Given the description of an element on the screen output the (x, y) to click on. 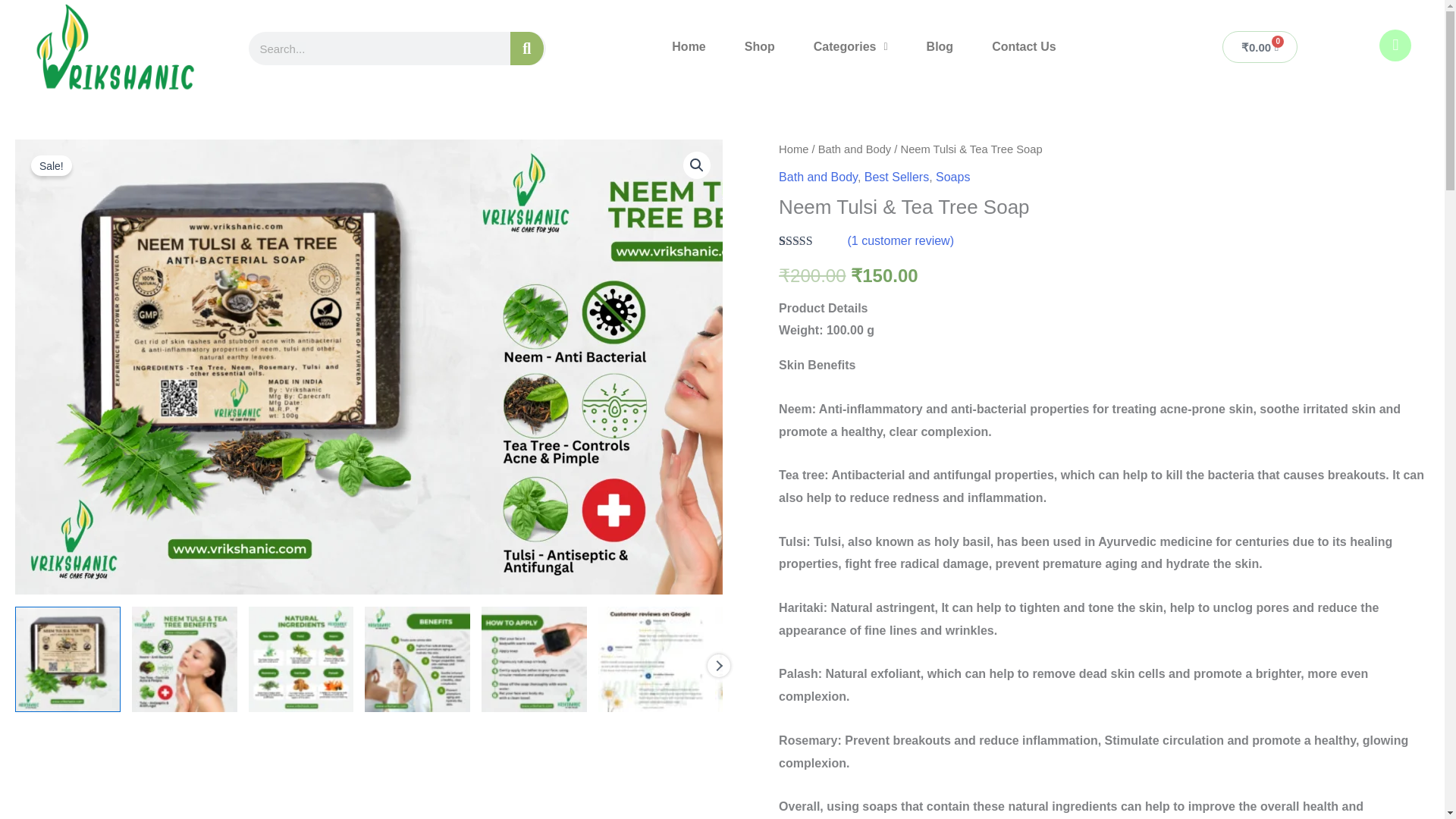
Search (527, 48)
Home (688, 46)
Categories (850, 46)
Contact Us (1023, 46)
Blog (940, 46)
Shop (759, 46)
